Given the description of an element on the screen output the (x, y) to click on. 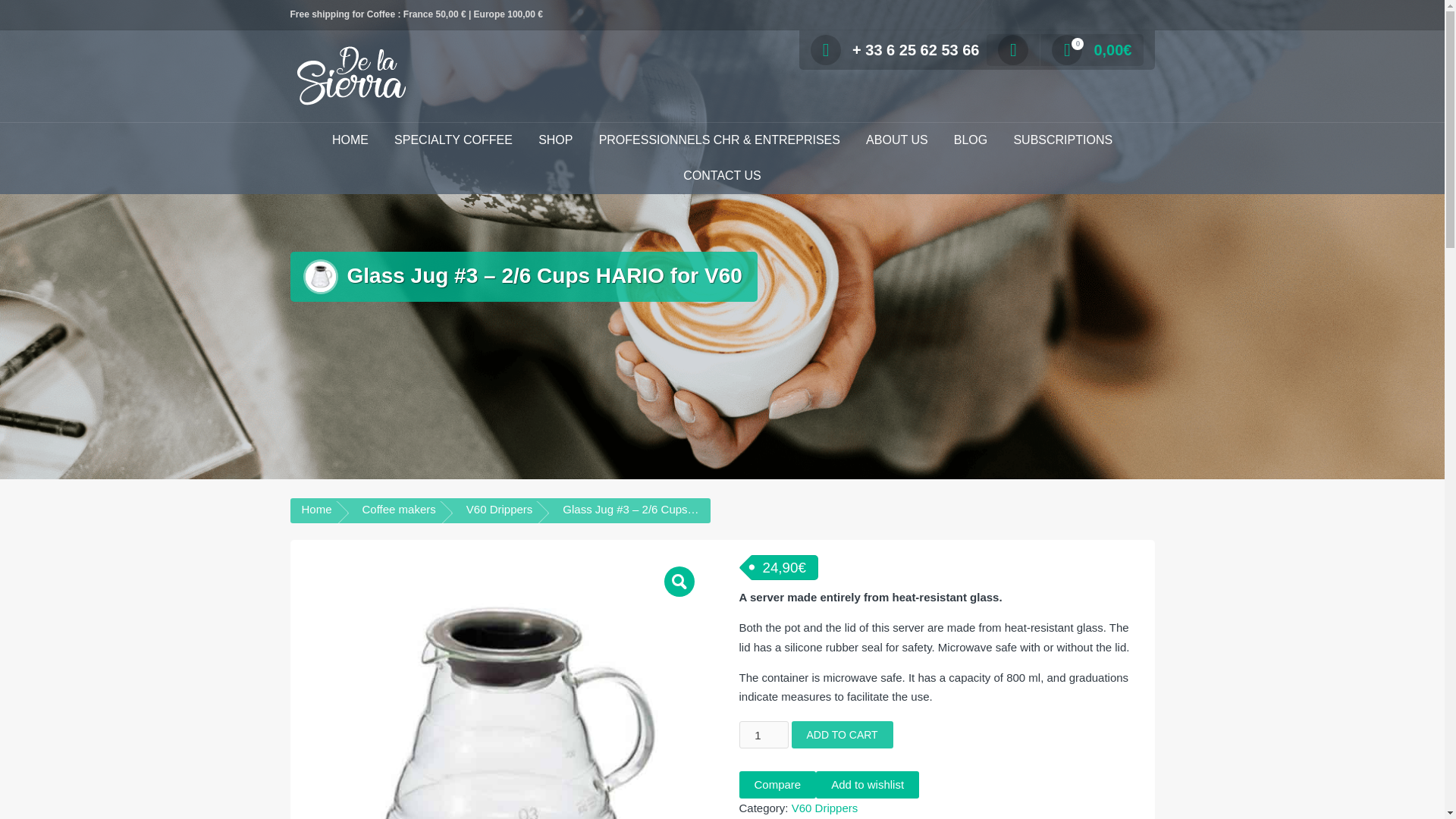
V60 Drippers (825, 807)
BLOG (970, 140)
HOME (350, 140)
Home (316, 508)
Coffee makers (398, 508)
SUBSCRIPTIONS (1062, 140)
Login (894, 212)
CONTACT US (722, 176)
1 (762, 734)
Compare (776, 784)
SPECIALTY COFFEE (453, 140)
ABOUT US (896, 140)
SHOP (555, 140)
Add to wishlist (866, 784)
ADD TO CART (842, 734)
